Given the description of an element on the screen output the (x, y) to click on. 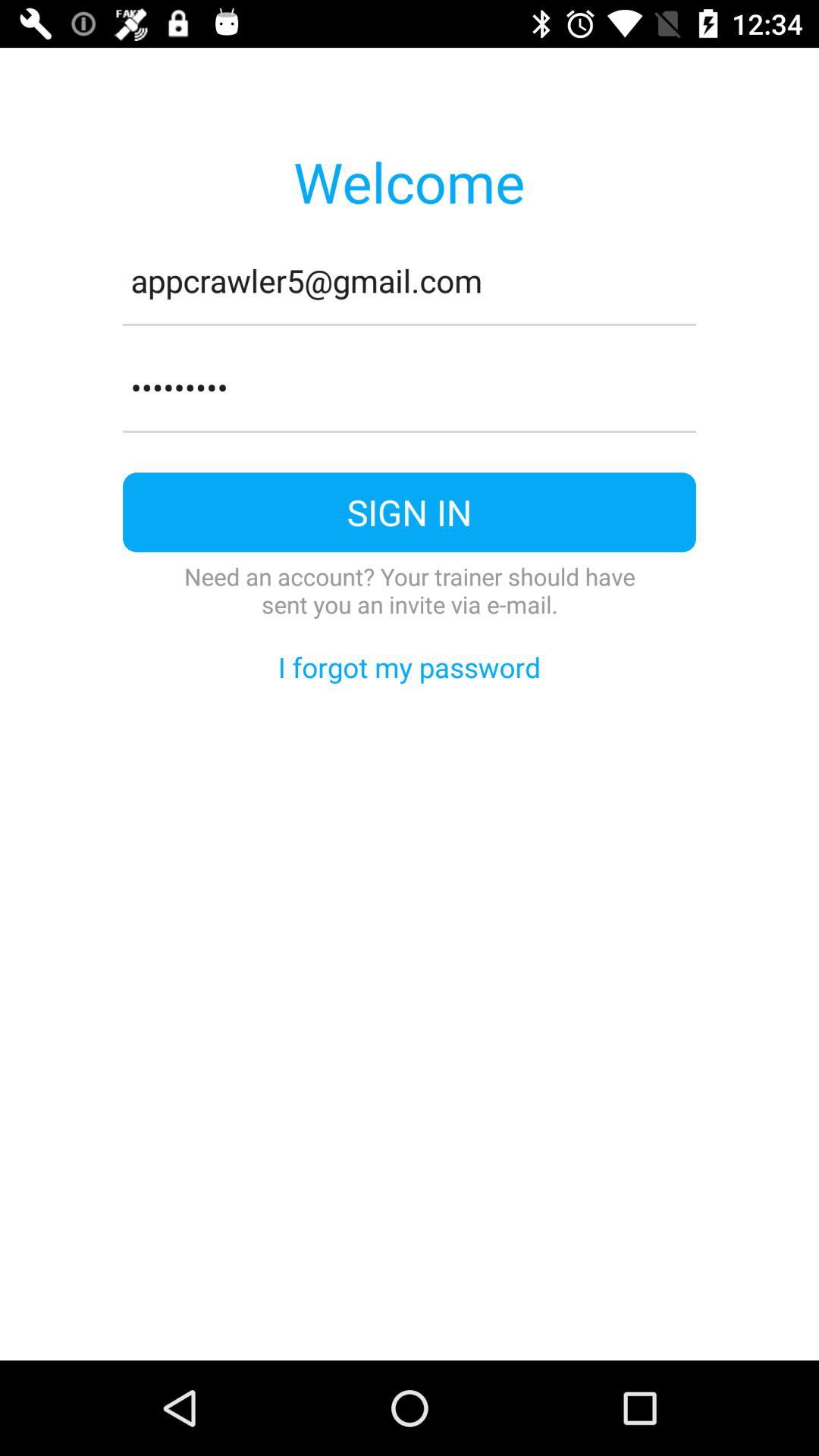
flip until i forgot my icon (409, 666)
